Given the description of an element on the screen output the (x, y) to click on. 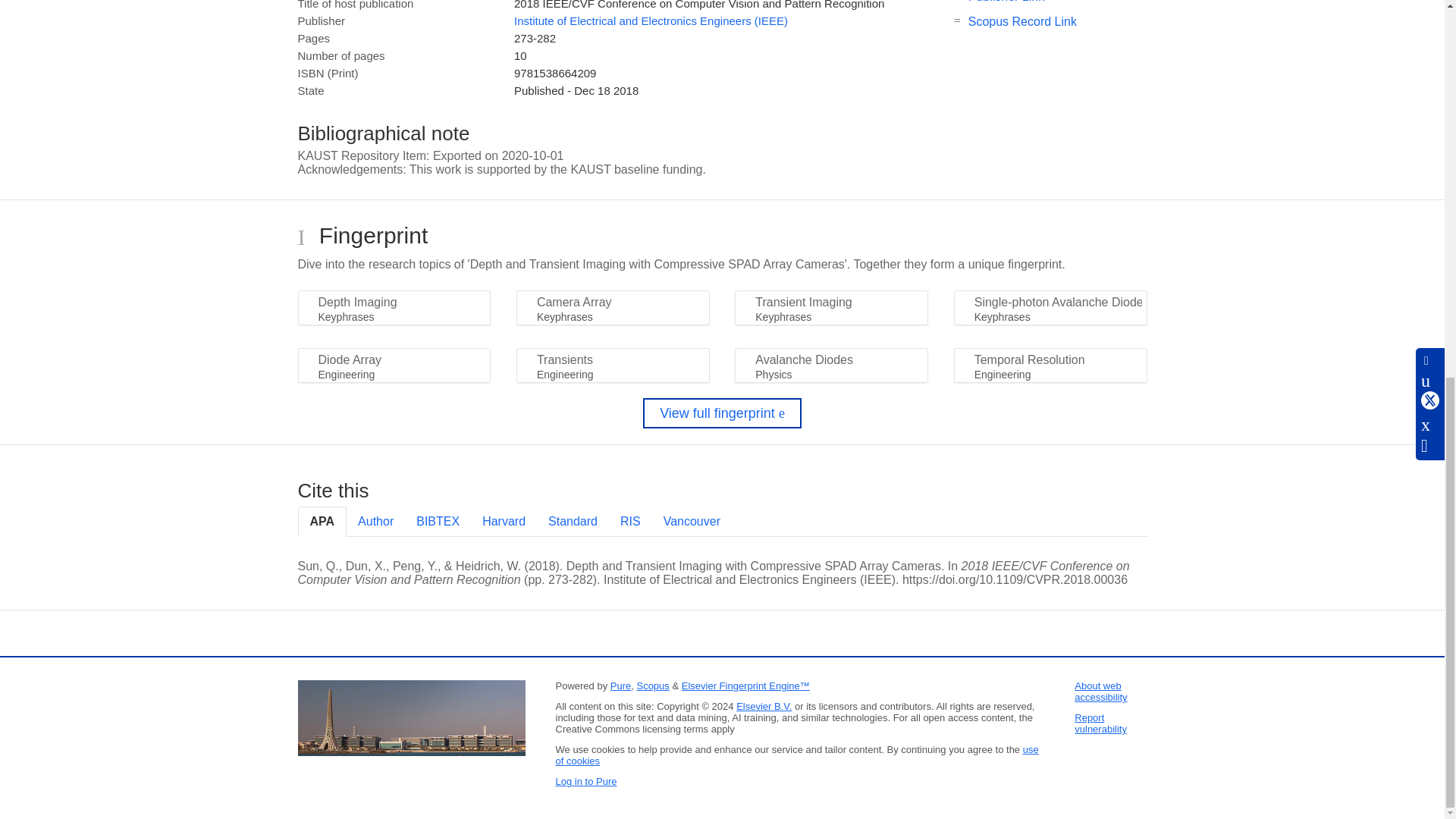
Publisher Link (1006, 1)
View full fingerprint (722, 413)
Scopus Record Link (1022, 21)
